Given the description of an element on the screen output the (x, y) to click on. 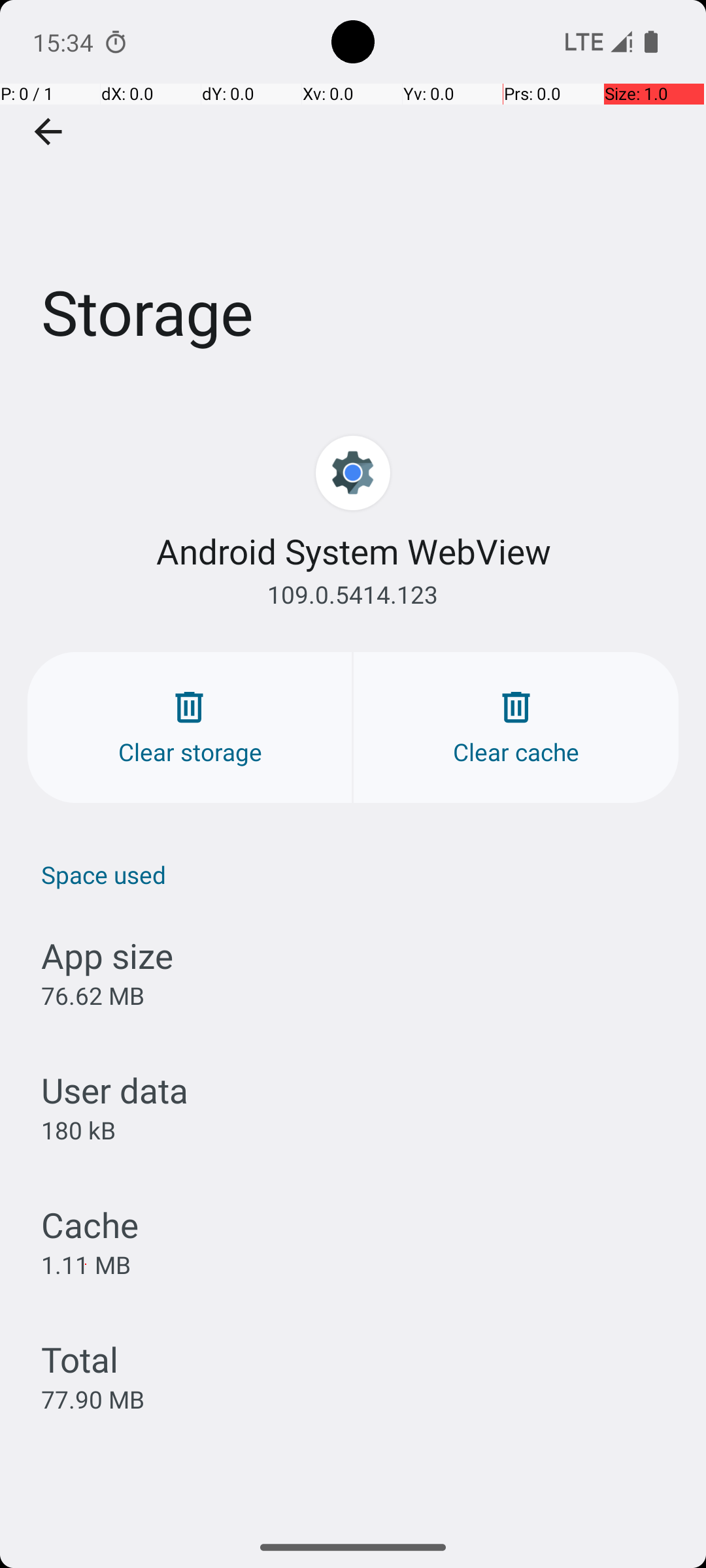
109.0.5414.123 Element type: android.widget.TextView (352, 593)
Clear storage Element type: android.widget.Button (189, 727)
Clear cache Element type: android.widget.Button (515, 727)
Space used Element type: android.widget.TextView (359, 874)
App size Element type: android.widget.TextView (107, 955)
76.62 MB Element type: android.widget.TextView (92, 995)
User data Element type: android.widget.TextView (114, 1089)
180 kB Element type: android.widget.TextView (78, 1129)
Cache Element type: android.widget.TextView (89, 1224)
1.11 MB Element type: android.widget.TextView (85, 1264)
77.90 MB Element type: android.widget.TextView (92, 1398)
